Given the description of an element on the screen output the (x, y) to click on. 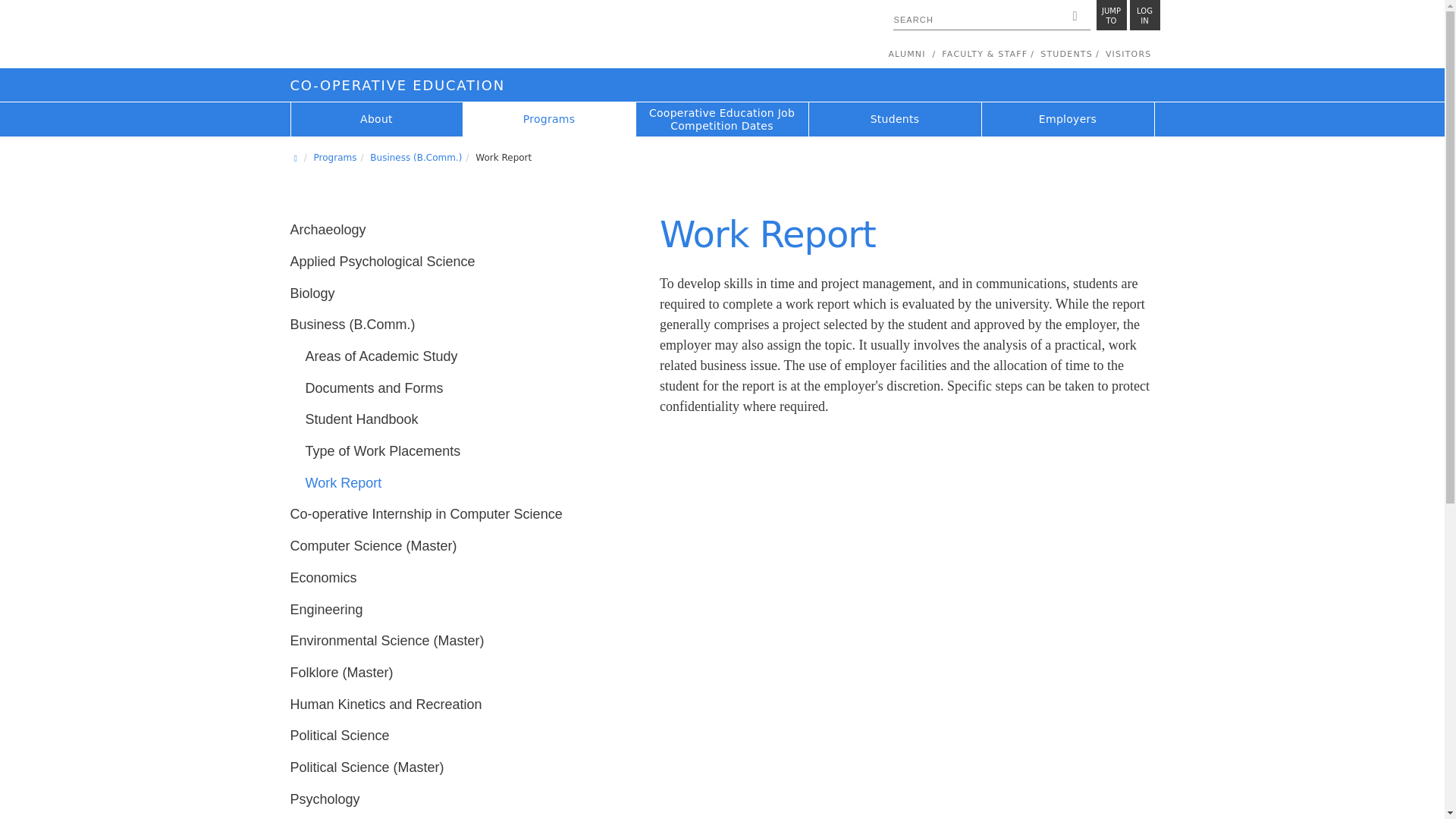
Memorial University (450, 35)
Memorial University of Newfoundland (450, 35)
JUMP TO (1111, 15)
